Given the description of an element on the screen output the (x, y) to click on. 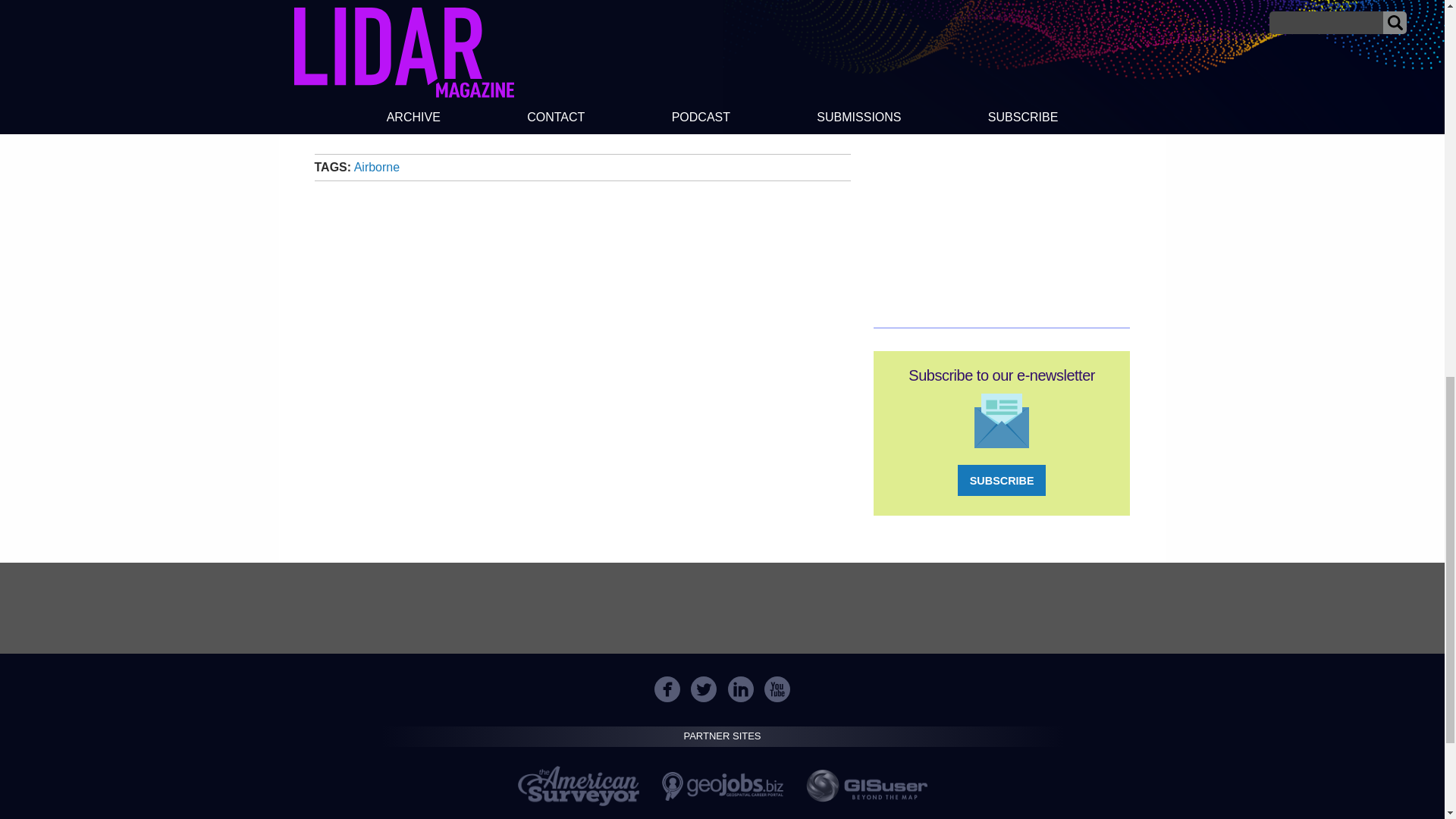
icon-sm-twitter (703, 688)
icon-sm-fb (667, 688)
3rd party ad content (721, 608)
icon-sm-linkedin (740, 688)
Airborne (375, 166)
icon-sm-youtube (777, 688)
icon-sm-linkedin (741, 688)
icon-sm-fb (666, 688)
icon-sm-twitter (703, 688)
icon-sm-youtube (776, 688)
SUBSCRIBE (1001, 480)
